Given the description of an element on the screen output the (x, y) to click on. 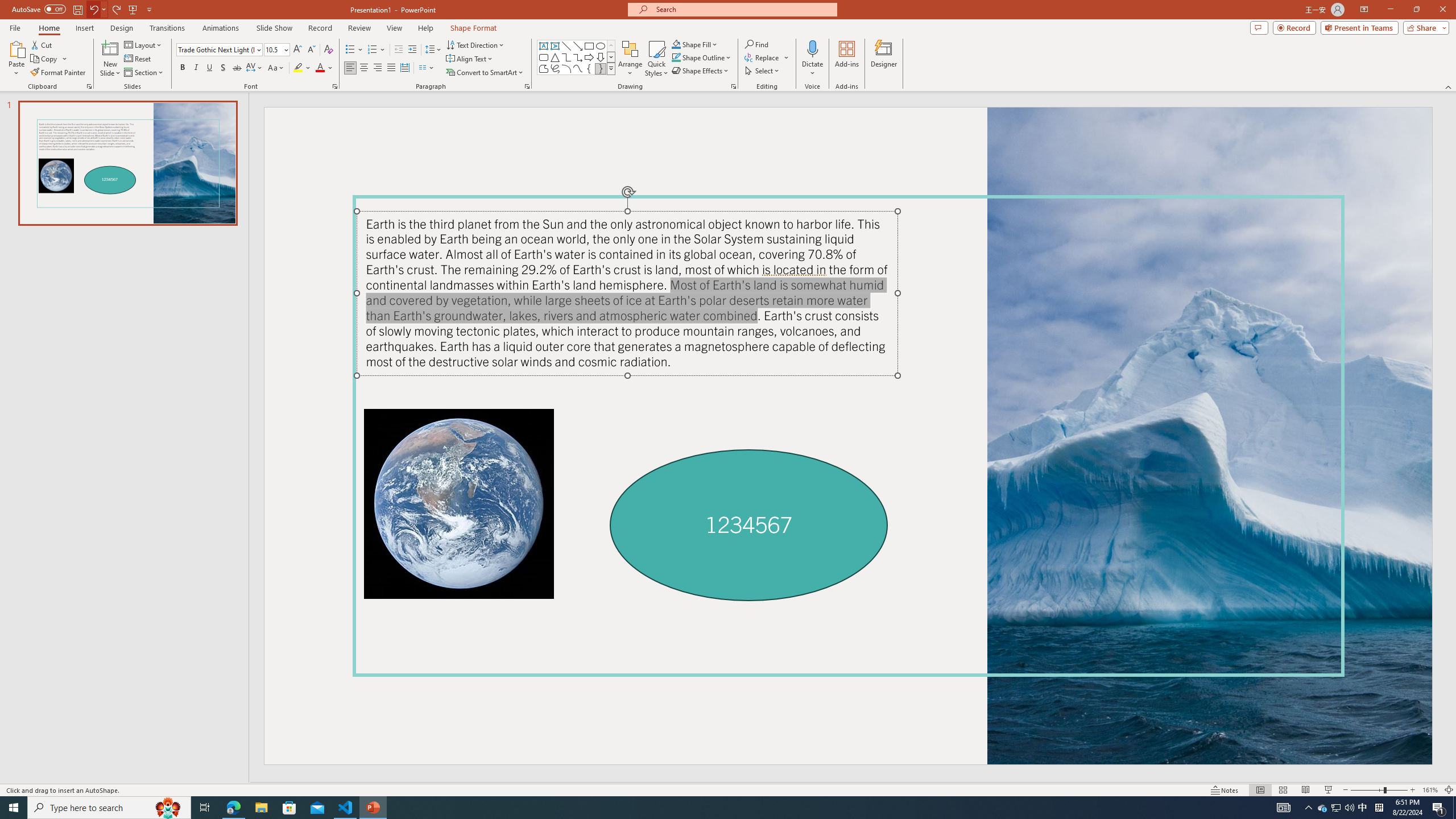
Change Case (276, 67)
Font Color (324, 67)
Shape Fill Aqua, Accent 2 (675, 44)
Isosceles Triangle (554, 57)
Office Clipboard... (88, 85)
